Given the description of an element on the screen output the (x, y) to click on. 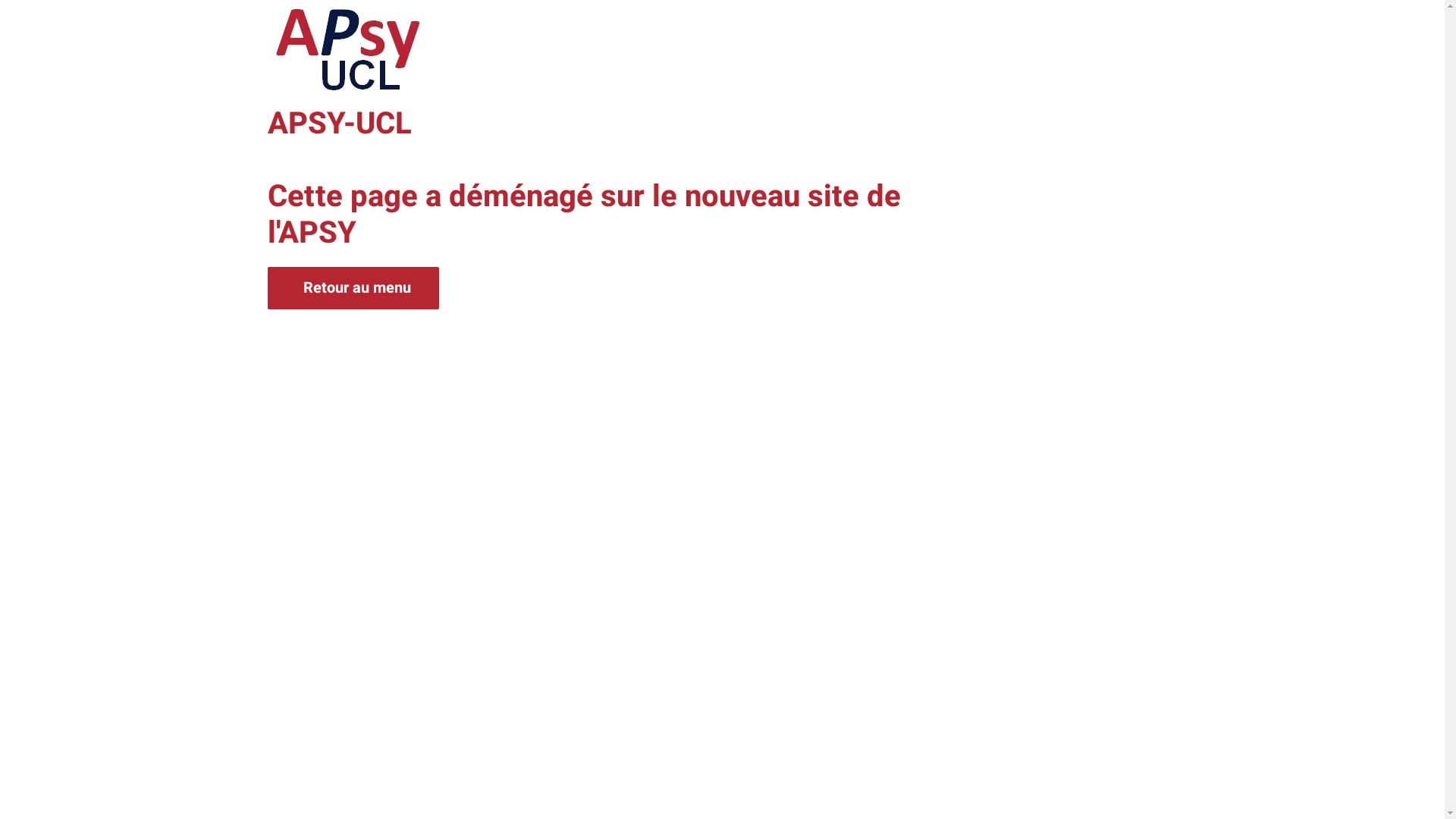
Retour au menu Element type: text (352, 287)
